Given the description of an element on the screen output the (x, y) to click on. 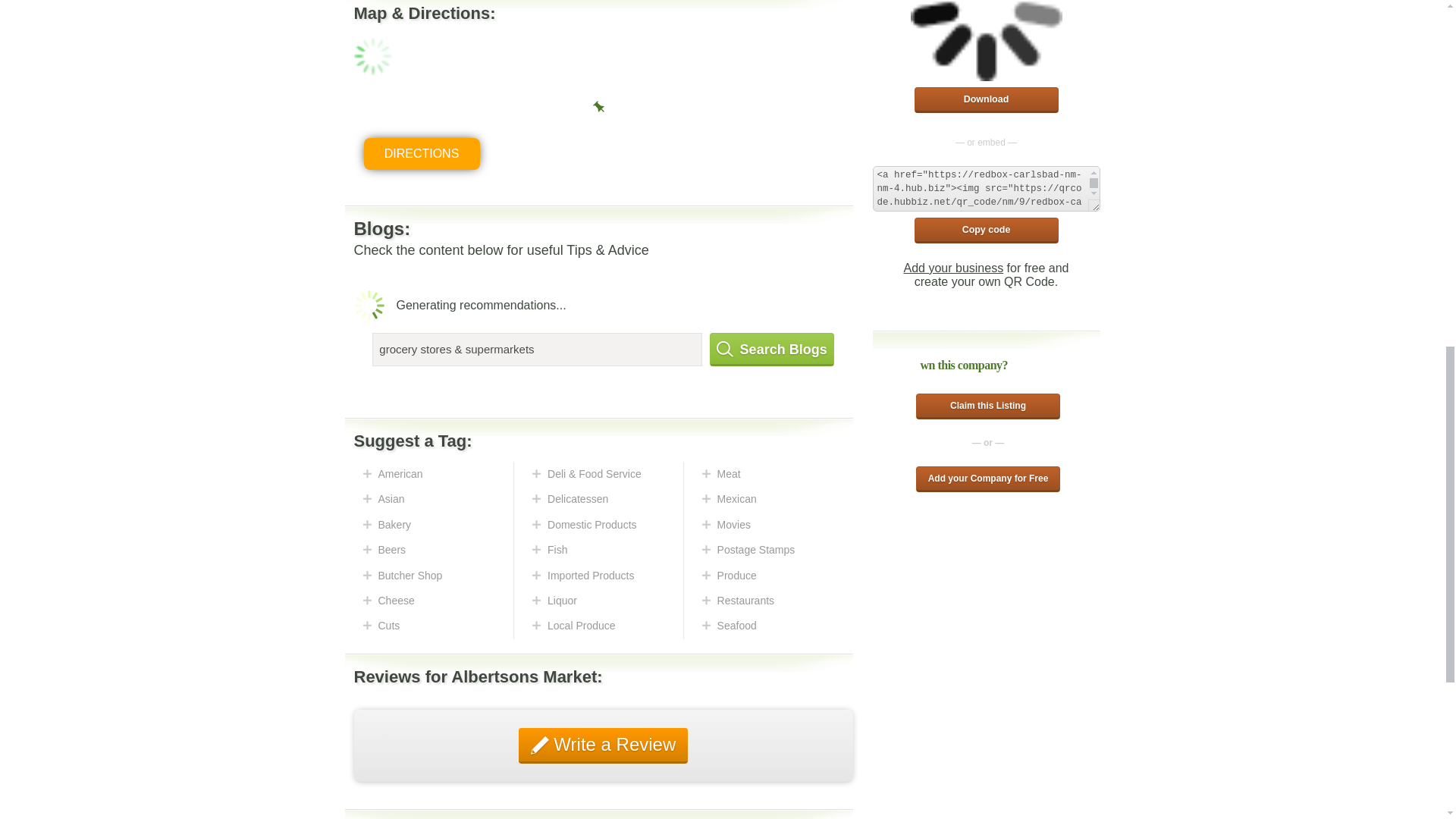
Download (986, 99)
Add your Company for Free (987, 479)
Add your business (954, 267)
Write a Review (603, 745)
Claim this Listing (987, 406)
DIRECTIONS (422, 153)
